Given the description of an element on the screen output the (x, y) to click on. 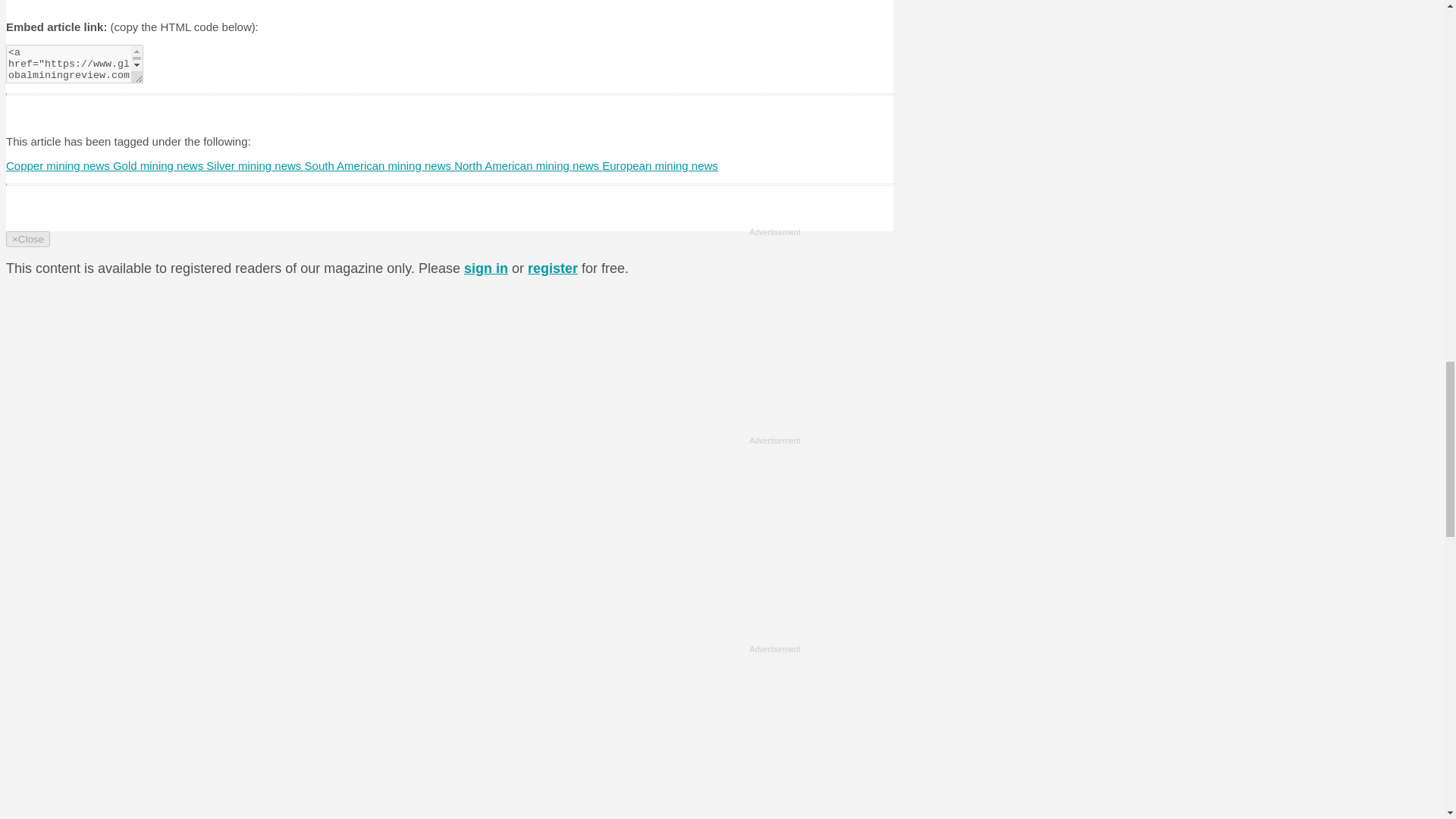
Copper mining news (59, 164)
Silver mining news (255, 164)
North American mining news (528, 164)
Gold mining news (159, 164)
European mining news (659, 164)
South American mining news (379, 164)
